Given the description of an element on the screen output the (x, y) to click on. 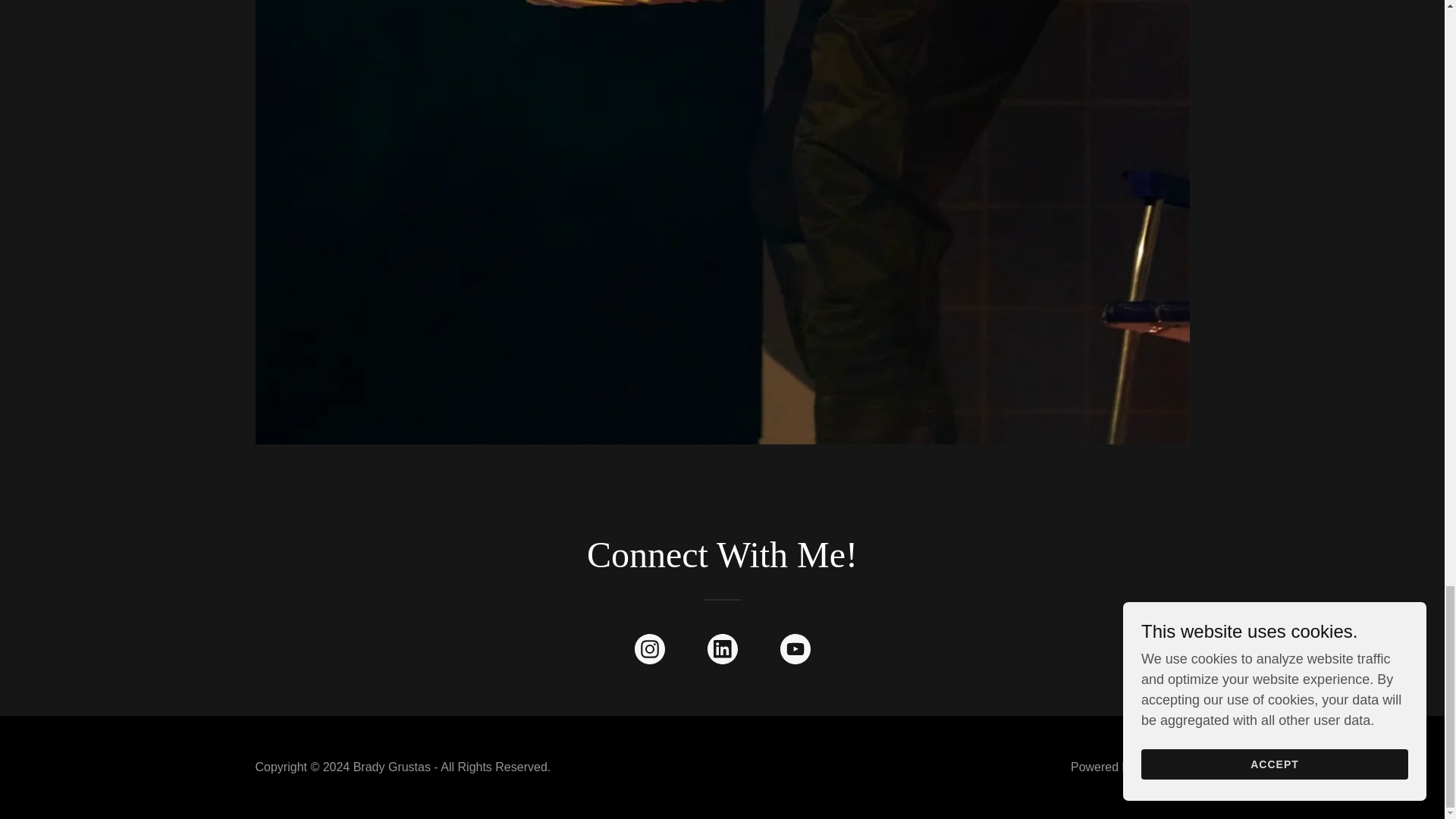
GoDaddy (1163, 766)
